Given the description of an element on the screen output the (x, y) to click on. 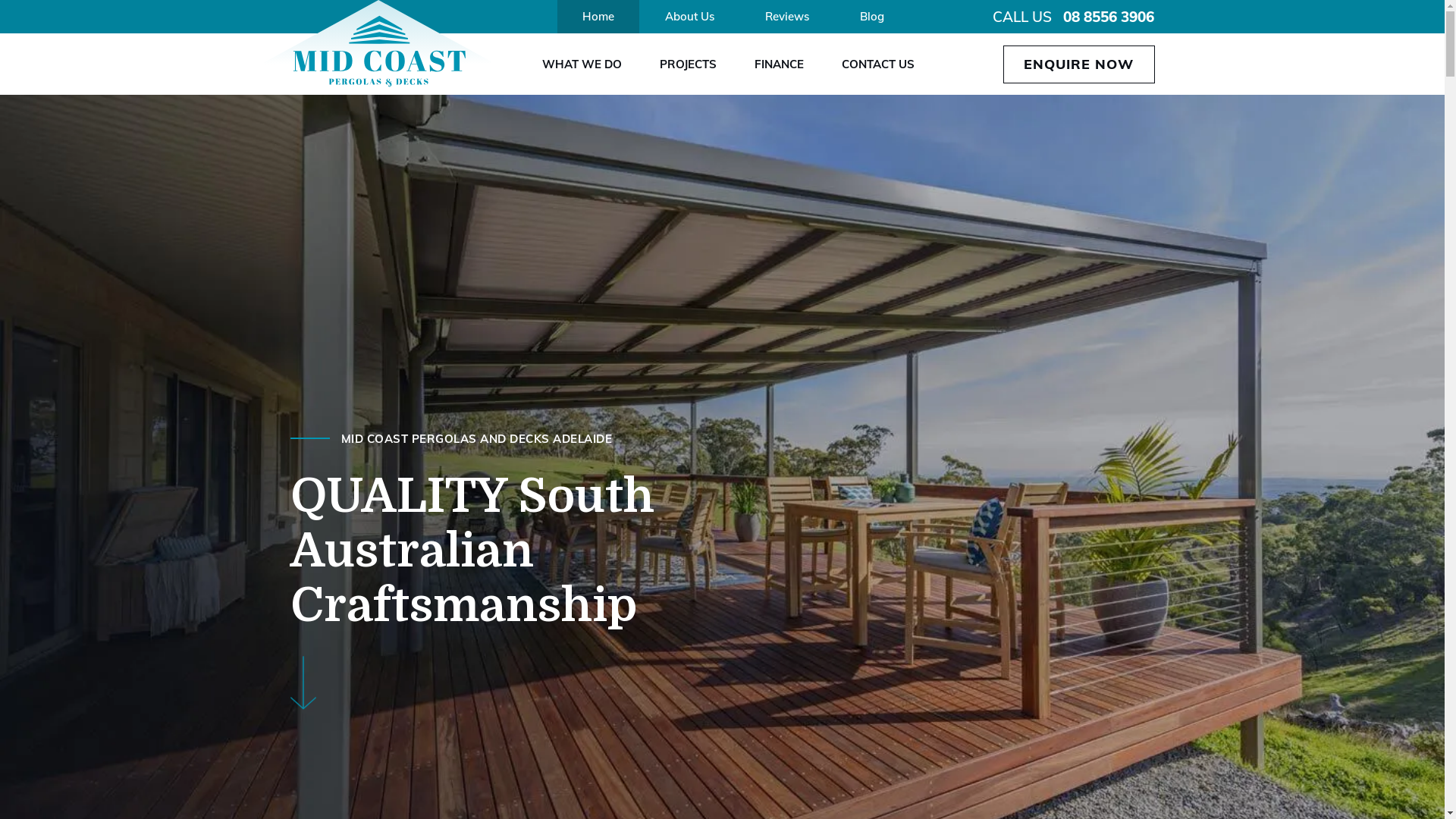
WHAT WE DO Element type: text (581, 64)
Reviews Element type: text (787, 16)
PROJECTS Element type: text (687, 64)
CALL US 08 8556 3906 Element type: text (1073, 16)
About Us Element type: text (689, 16)
Blog Element type: text (871, 16)
Home Element type: text (598, 16)
FINANCE Element type: text (778, 64)
CONTACT US Element type: text (877, 64)
ENQUIRE NOW Element type: text (1078, 64)
